Given the description of an element on the screen output the (x, y) to click on. 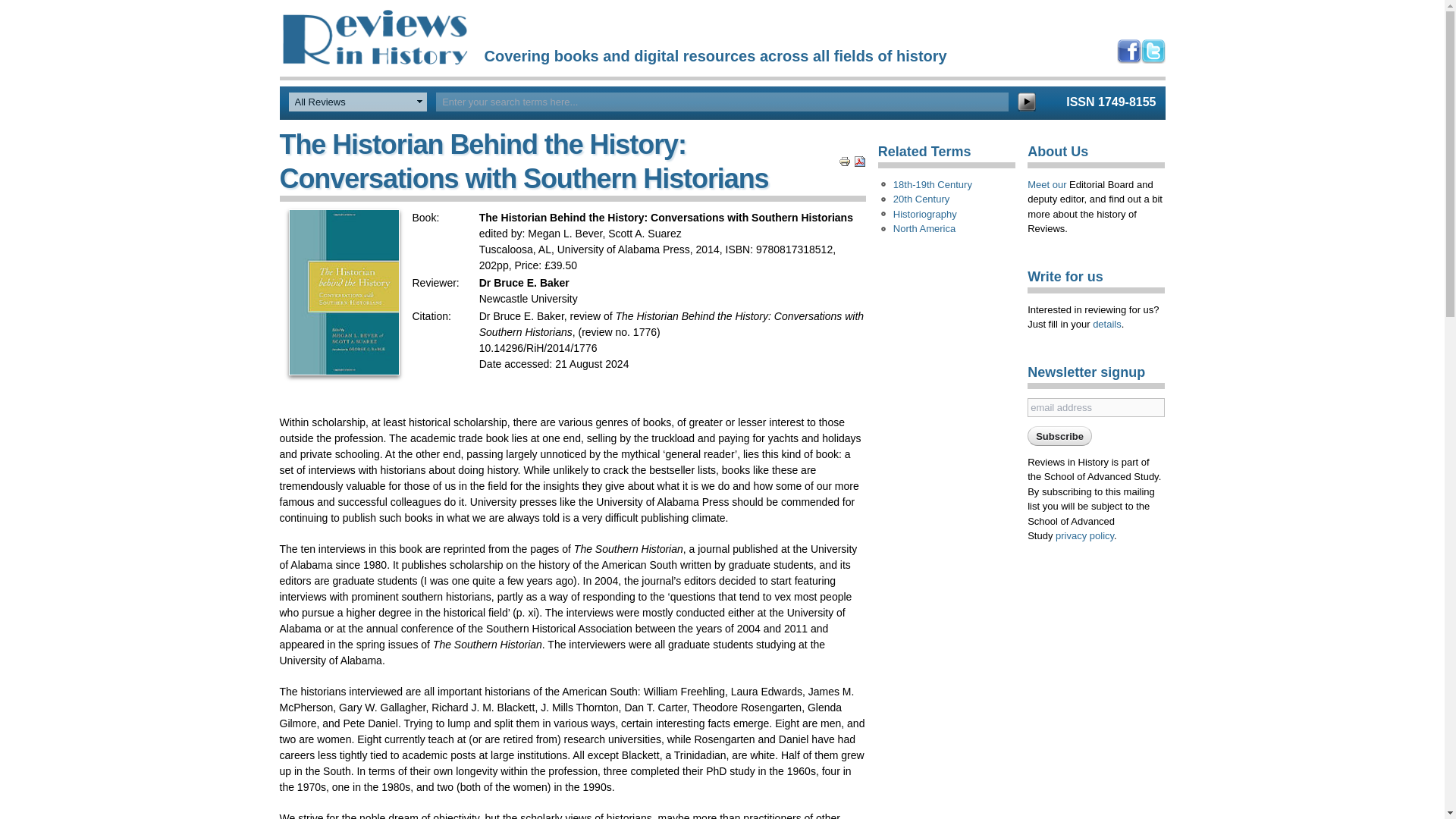
privacy policy (1084, 535)
Subscribe (1059, 435)
North America (924, 228)
Meet our (1046, 184)
Historiography (924, 214)
20th Century (921, 199)
18th-19th Century (932, 184)
details (1107, 324)
Subscribe (1059, 435)
